Given the description of an element on the screen output the (x, y) to click on. 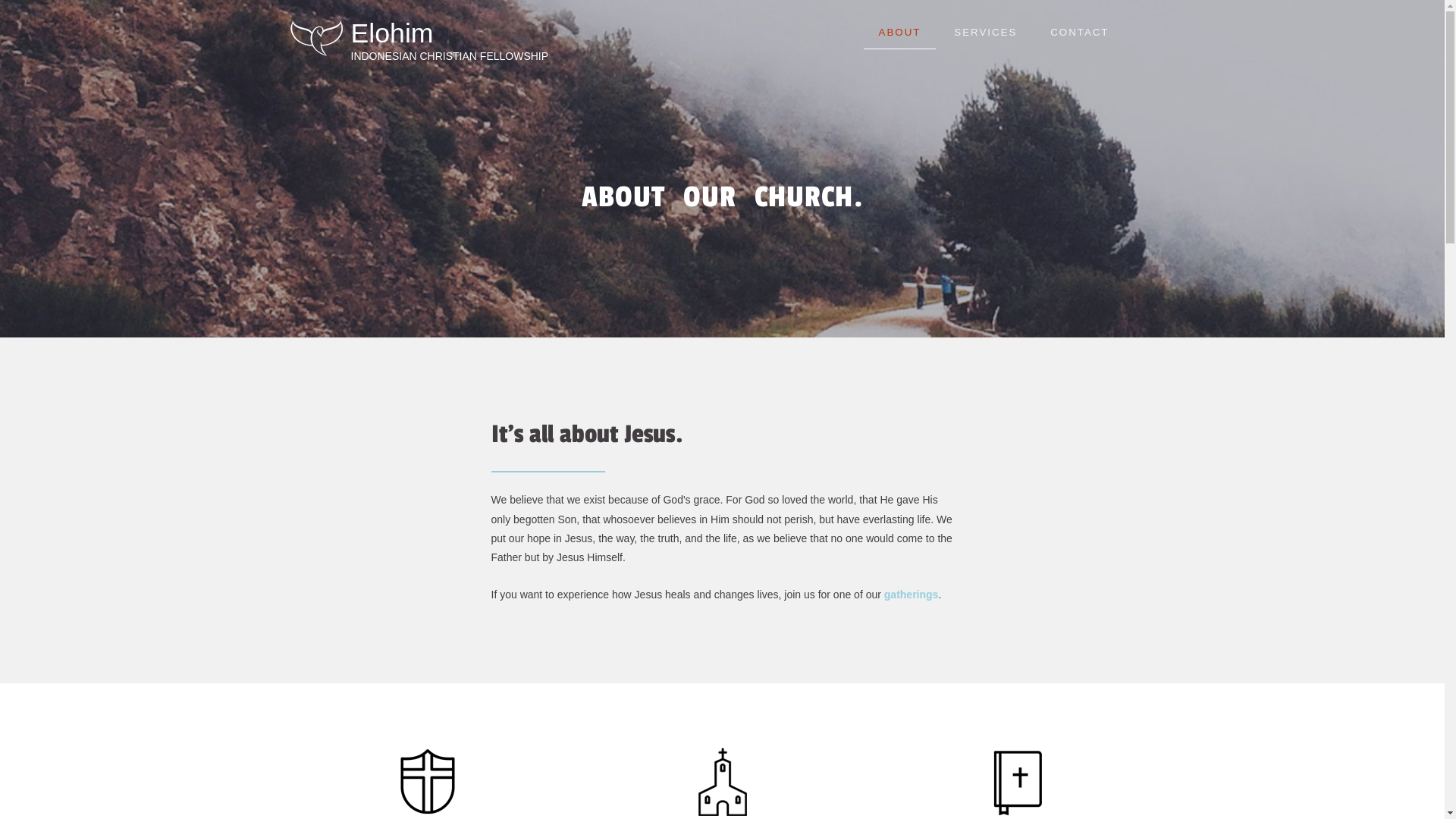
gatherings Element type: text (911, 594)
Elohim Church Element type: hover (315, 38)
Skip to content Element type: text (863, 15)
ABOUT Element type: text (899, 32)
CONTACT Element type: text (1079, 31)
Elohim
INDONESIAN CHRISTIAN FELLOWSHIP Element type: text (445, 38)
SERVICES Element type: text (985, 31)
